Given the description of an element on the screen output the (x, y) to click on. 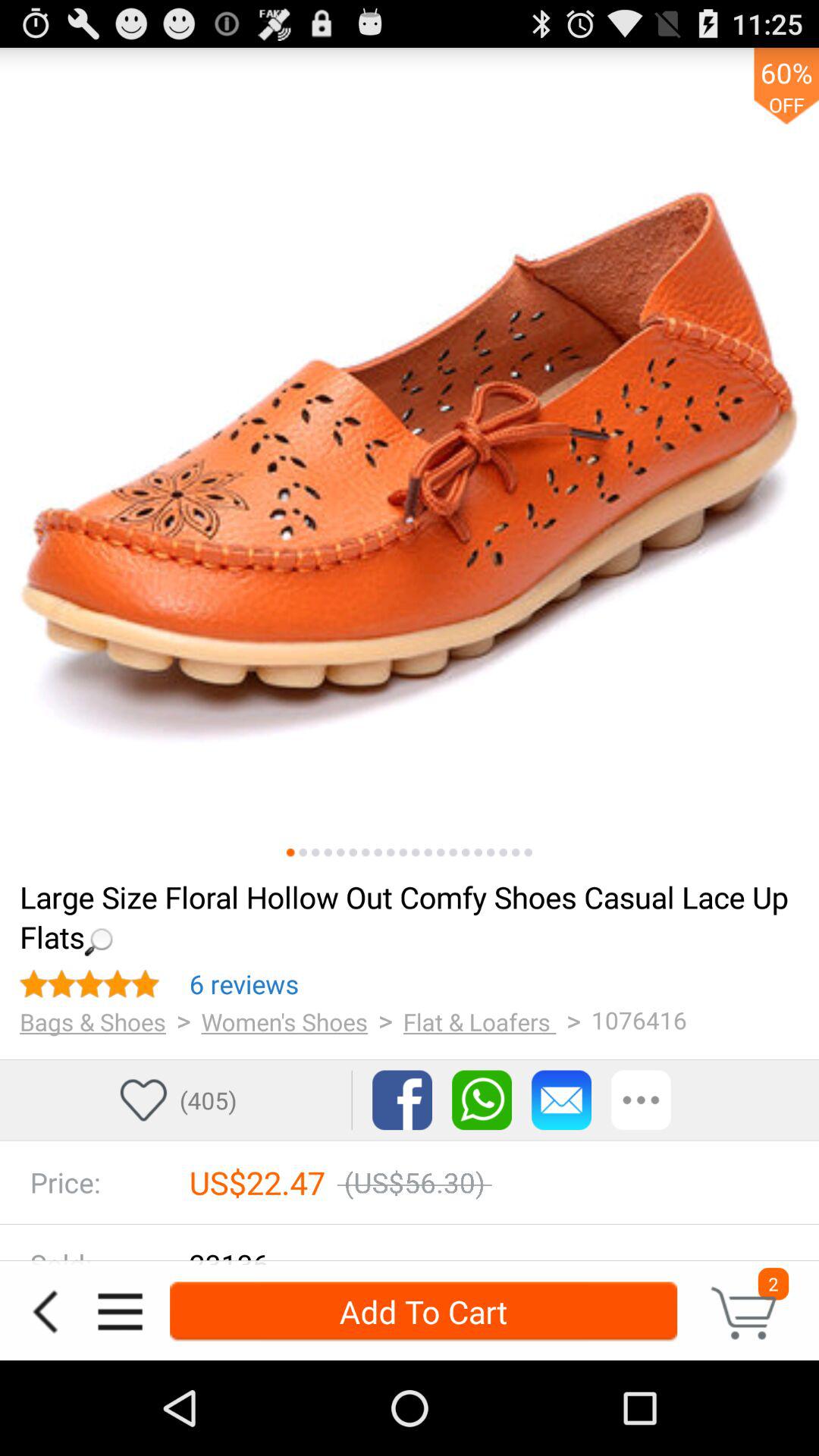
tap the item above loading... (390, 852)
